Given the description of an element on the screen output the (x, y) to click on. 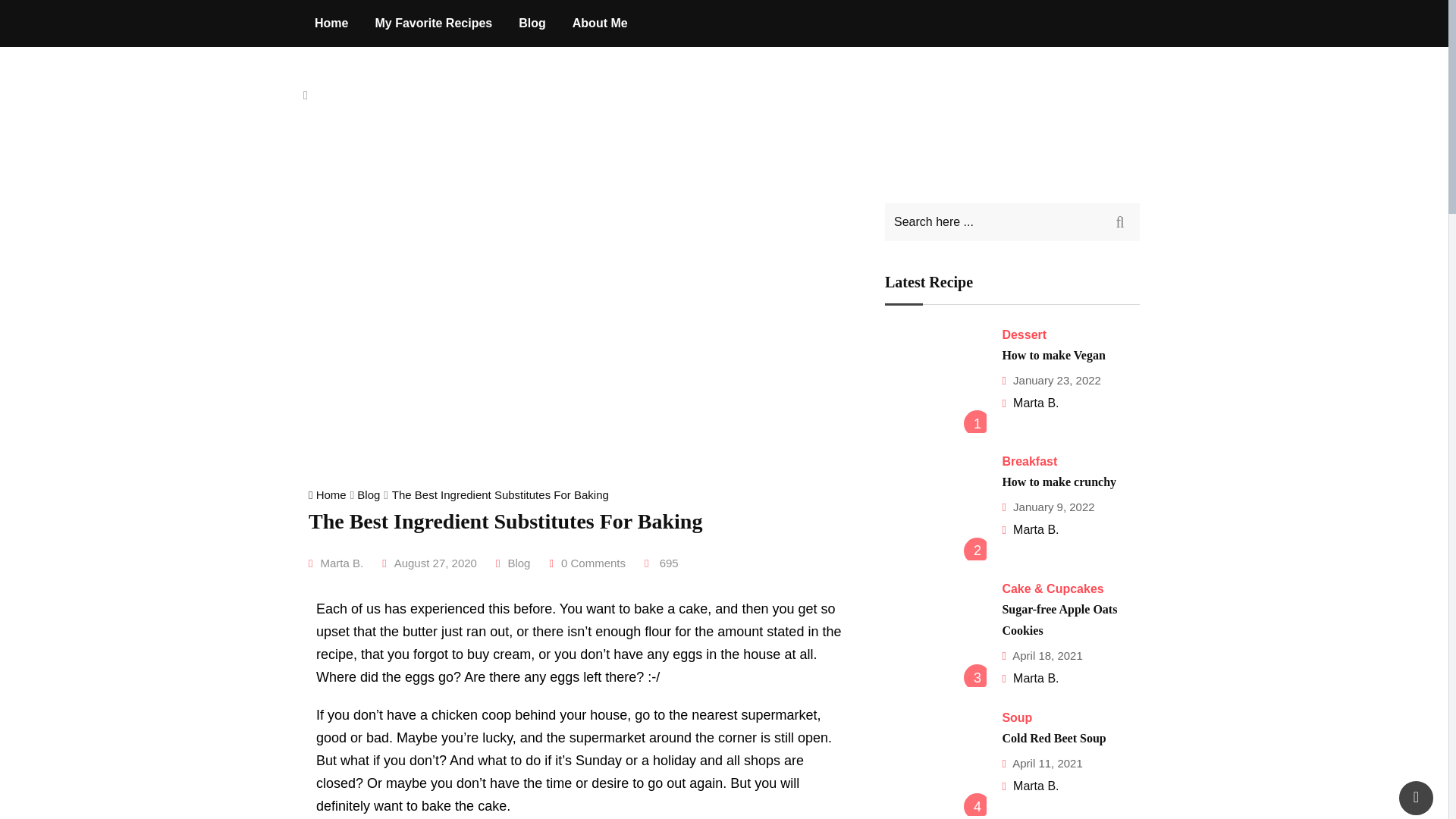
Posts by Marta B. (1035, 677)
How to make Vegan Mango Tapioca Dessert (936, 382)
Blog (531, 23)
Blog (517, 562)
Posts by Marta B. (1035, 529)
Posts by Marta B. (1035, 402)
Home (329, 494)
How to make crunchy granola (936, 508)
Posts by Marta B. (341, 562)
My Favorite Recipes (432, 23)
Blog (368, 494)
Dessert (1023, 334)
Sugar-free Apple Oats Cookies (936, 636)
Posts by Marta B. (1035, 785)
Cold Red Beet Soup with Kefir and Dill (936, 764)
